Given the description of an element on the screen output the (x, y) to click on. 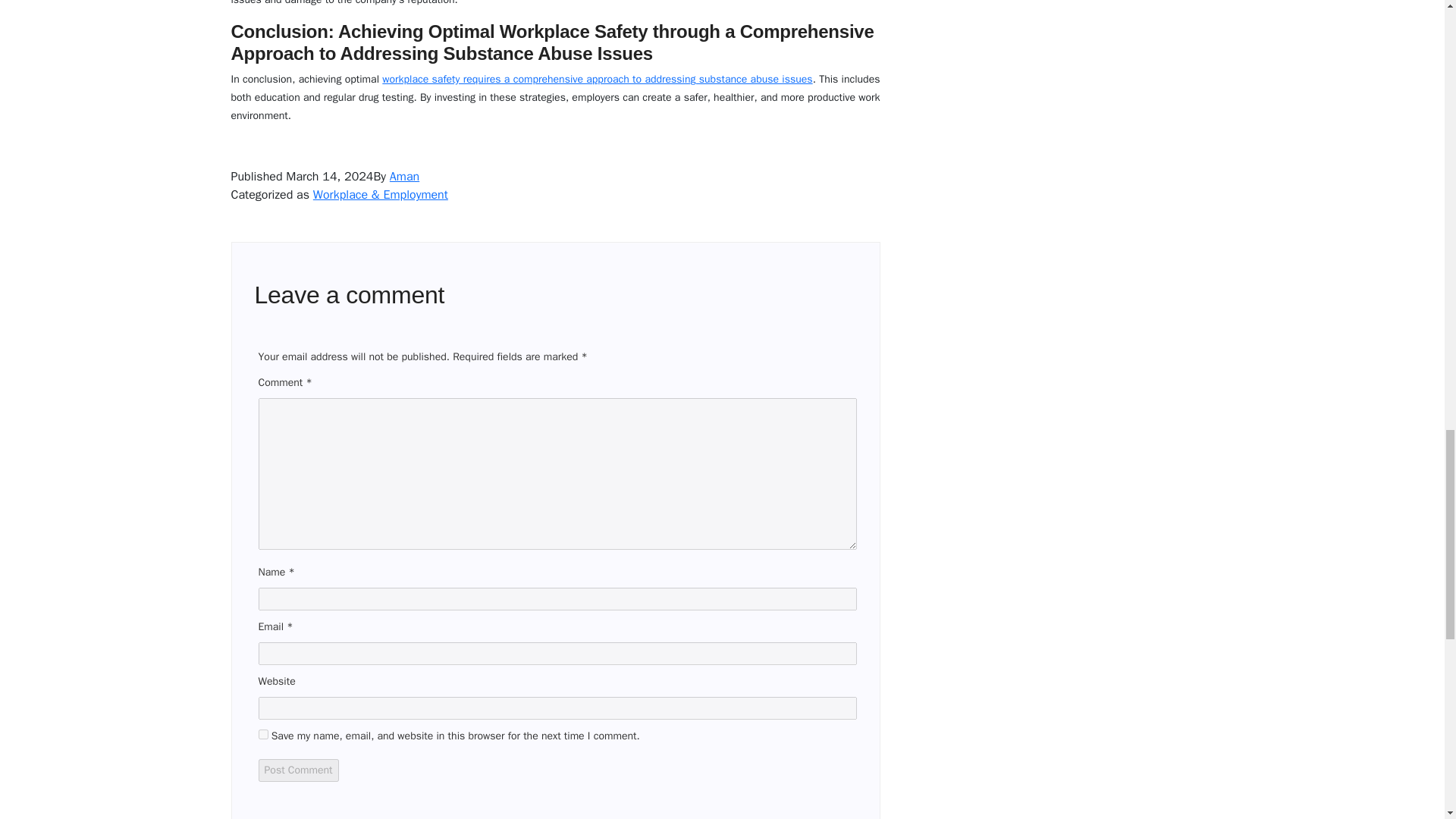
Post Comment (297, 770)
Aman (404, 176)
Post Comment (297, 770)
yes (262, 734)
